Given the description of an element on the screen output the (x, y) to click on. 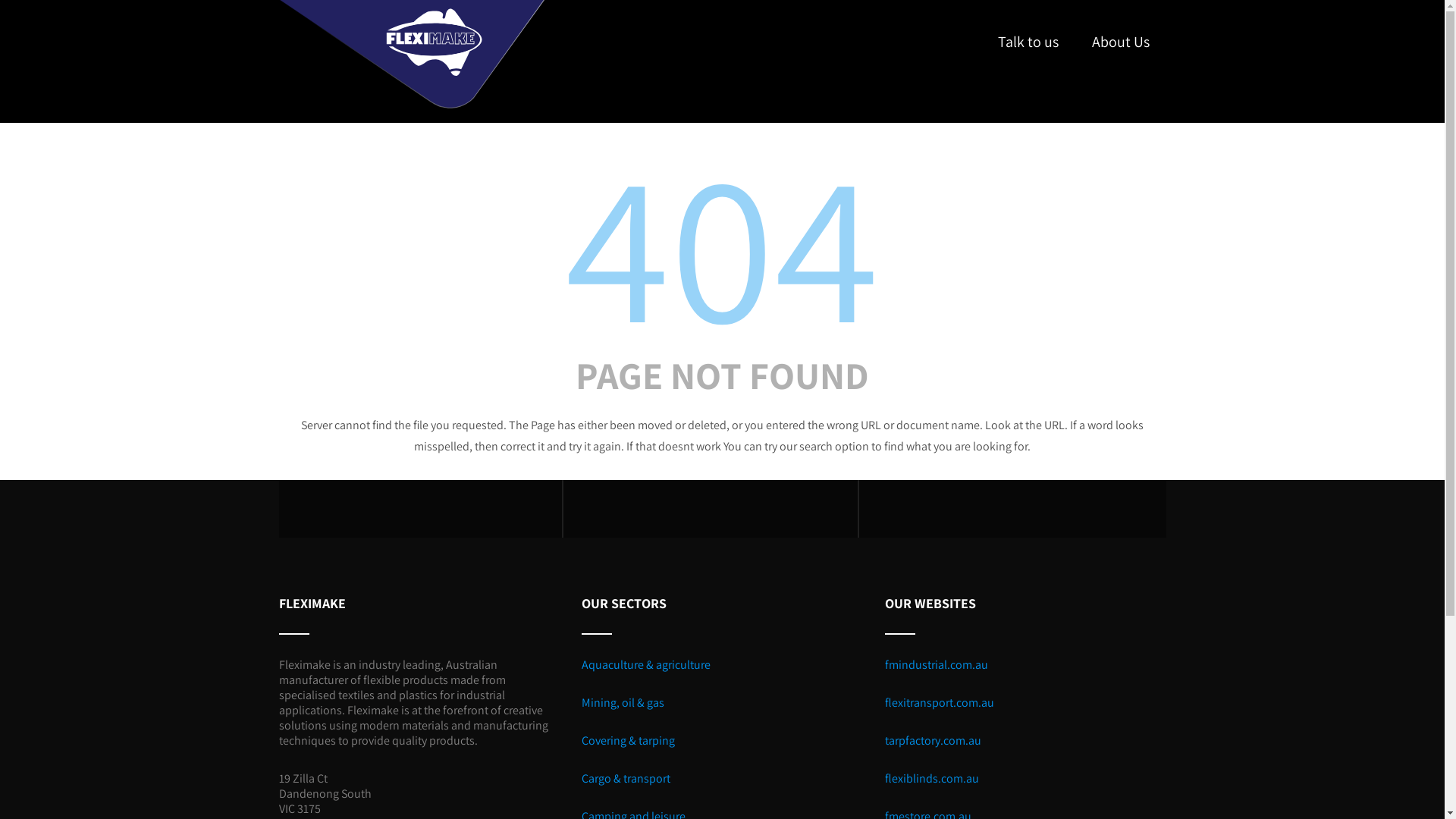
404 Element type: text (722, 243)
Aquaculture & agriculture Element type: text (645, 664)
Talk to us Element type: text (1028, 41)
flexiblinds.com.au Element type: text (931, 778)
Mining, oil & gas Element type: text (622, 702)
flexitransport.com.au Element type: text (939, 702)
fmindustrial.com.au Element type: text (936, 664)
Cargo & transport Element type: text (625, 778)
tarpfactory.com.au Element type: text (932, 740)
Covering & tarping Element type: text (627, 740)
About Us Element type: text (1120, 41)
